Given the description of an element on the screen output the (x, y) to click on. 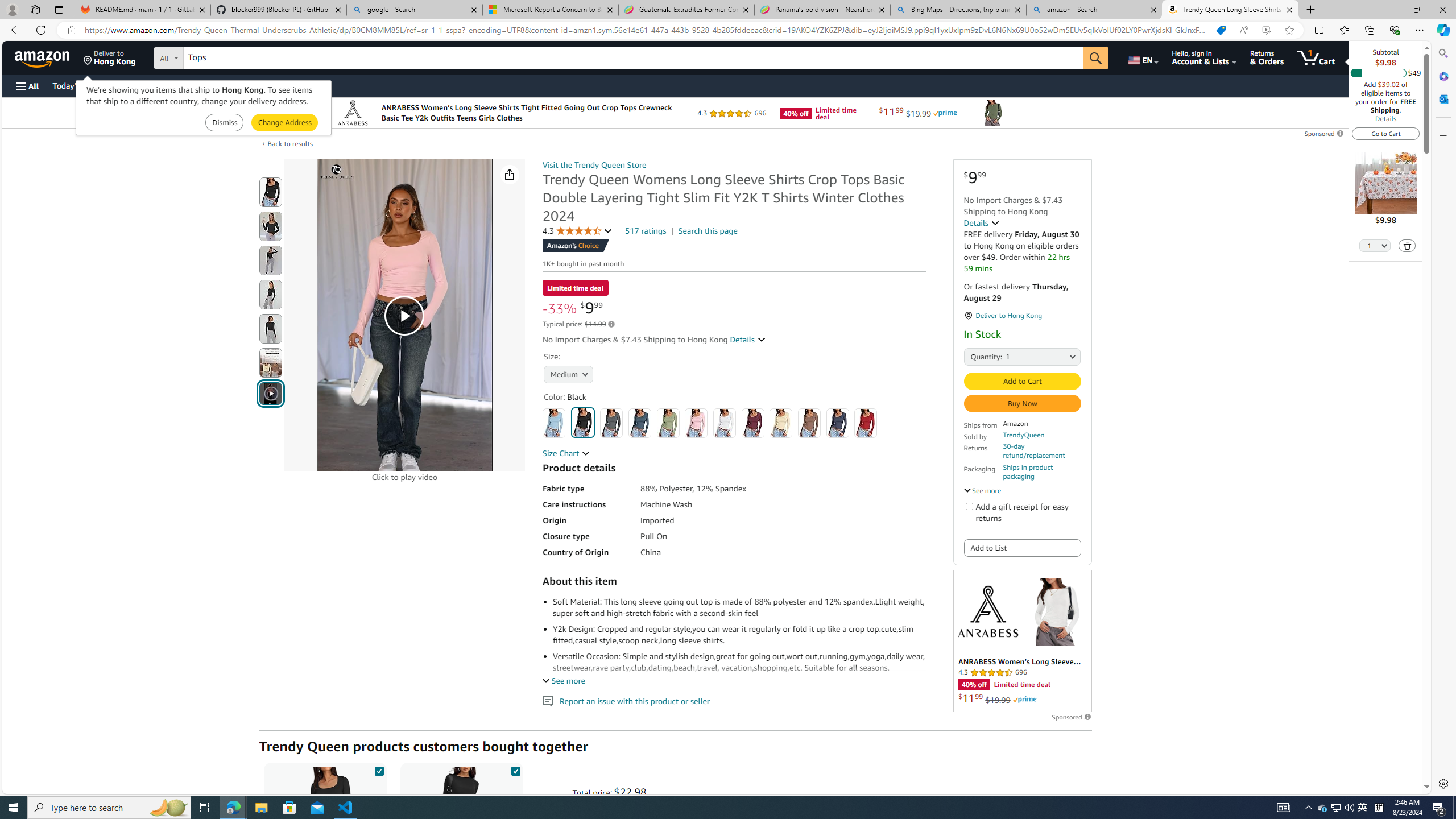
Quantity: (976, 355)
Enhance video (1266, 29)
1 item in cart (1315, 57)
Report an issue with this product or seller (548, 701)
amazon - Search (1094, 9)
Red (865, 422)
Black (583, 422)
You have the best price! (1220, 29)
Red (865, 422)
Amazon (43, 57)
Add to List (1021, 547)
